Given the description of an element on the screen output the (x, y) to click on. 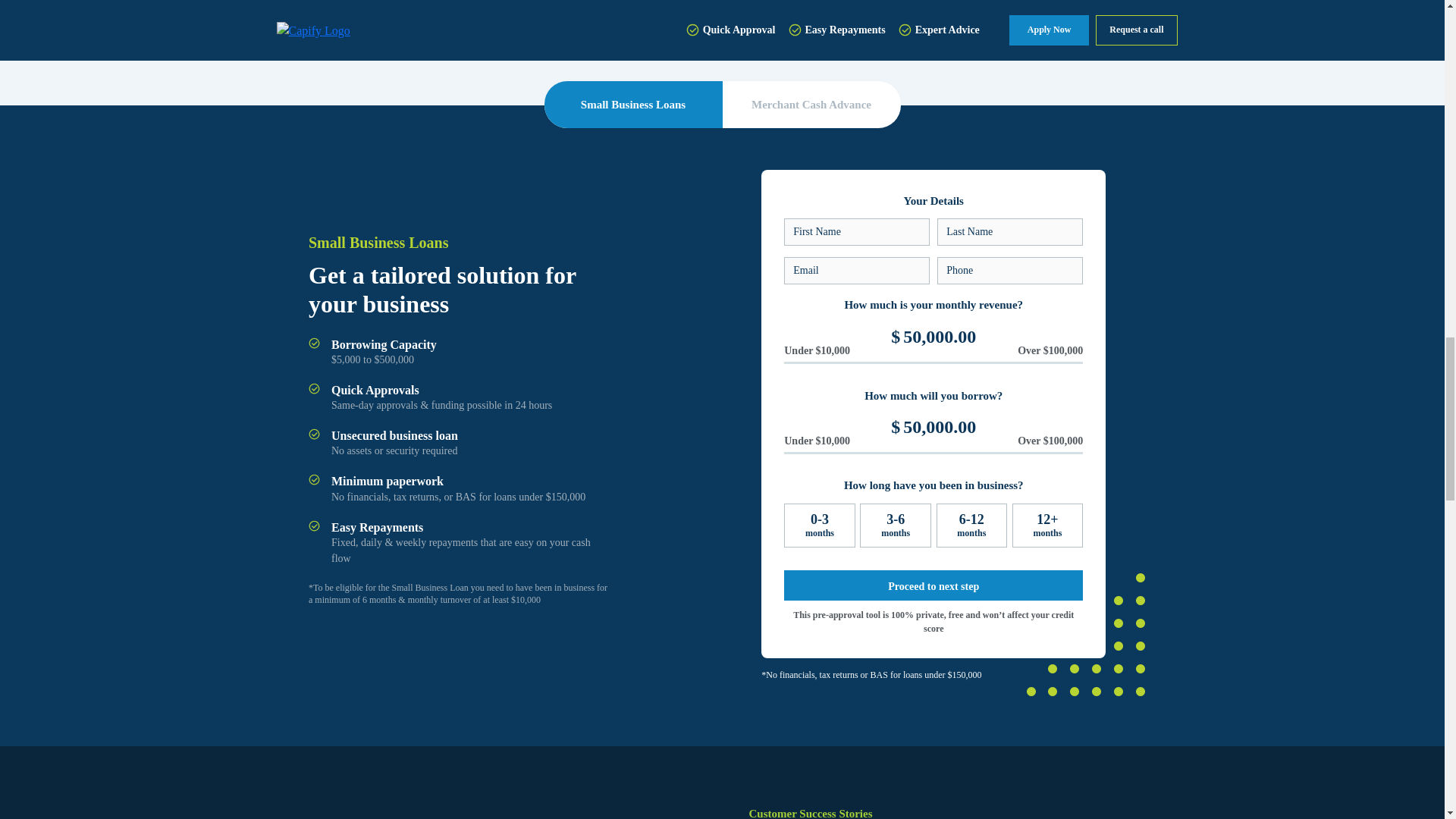
Proceed to next step (933, 585)
